Given the description of an element on the screen output the (x, y) to click on. 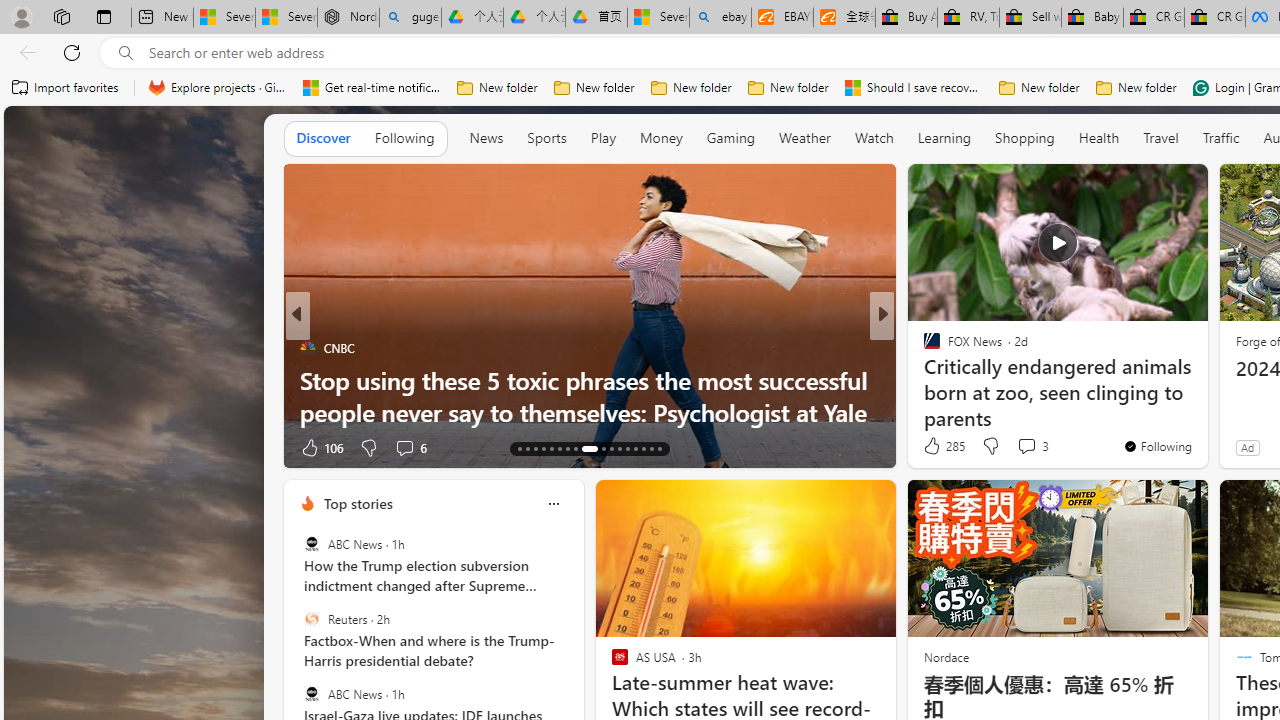
AutomationID: tab-20 (574, 448)
AutomationID: tab-23 (610, 448)
Learning (944, 138)
View comments 2 Comment (1019, 447)
View comments 6 Comment (1019, 447)
Play (603, 138)
AutomationID: tab-41 (650, 448)
1k Like (933, 447)
Traffic (1220, 137)
New folder (1136, 88)
The Cool Down (923, 347)
Hide this story (1147, 187)
